Given the description of an element on the screen output the (x, y) to click on. 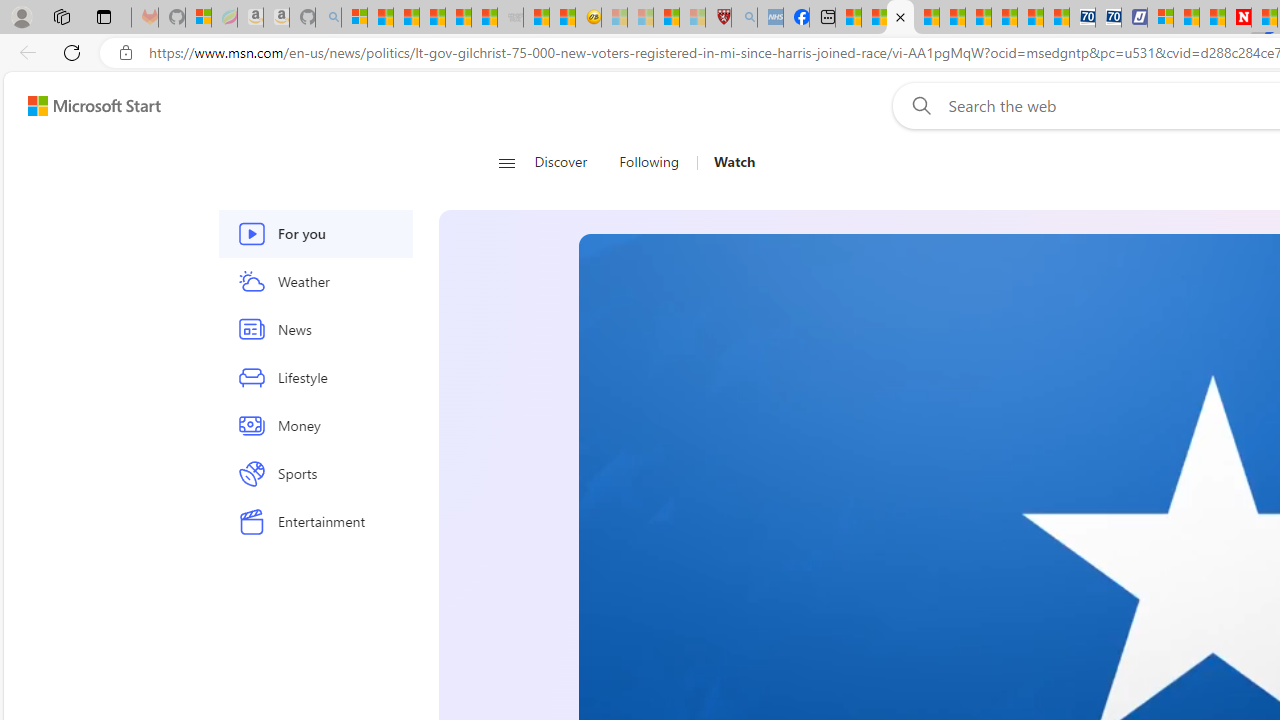
The Weather Channel - MSN (406, 17)
Newsweek - News, Analysis, Politics, Business, Technology (1238, 17)
